Given the description of an element on the screen output the (x, y) to click on. 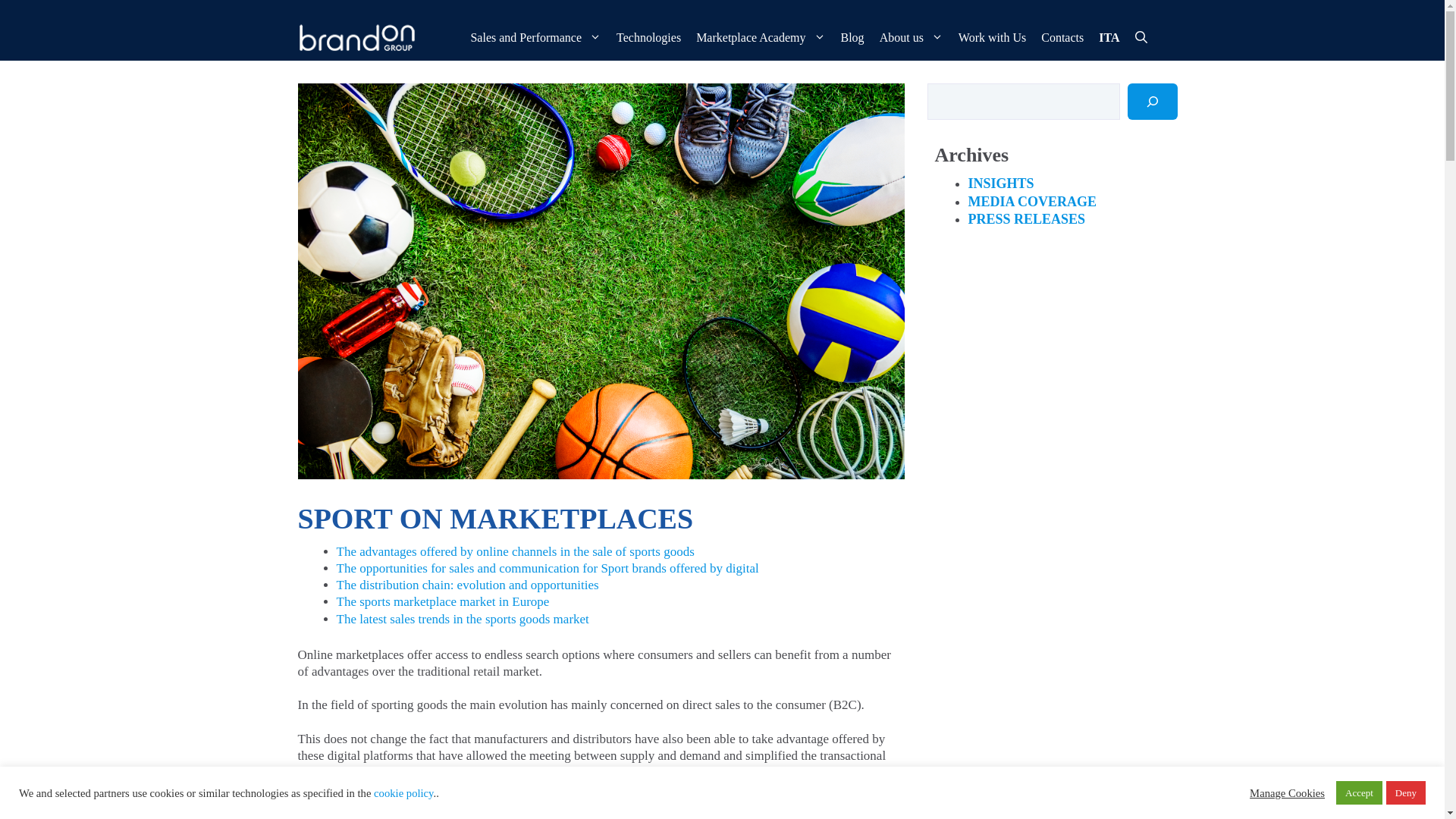
ITA (1108, 37)
PRESS RELEASES (1026, 218)
The latest sales trends in the sports goods market (462, 618)
Sales and Performance (535, 37)
About us (911, 37)
Technologies (648, 37)
MEDIA COVERAGE (1032, 201)
BrandOn Group (355, 37)
INSIGHTS (1000, 183)
Contacts (1061, 37)
The sports marketplace market in Europe (443, 601)
Blog (851, 37)
The distribution chain: evolution and opportunities (467, 585)
